Given the description of an element on the screen output the (x, y) to click on. 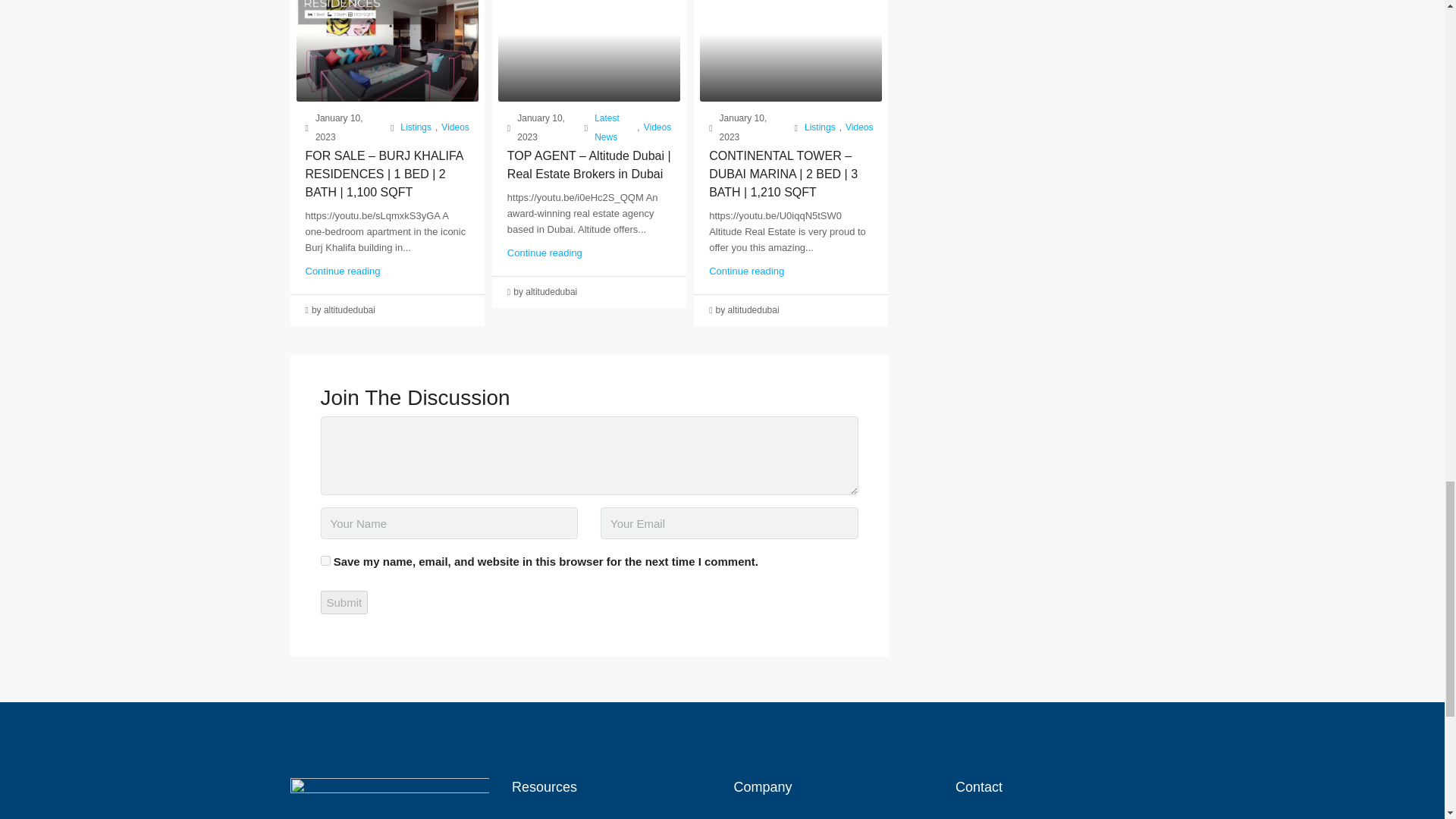
yes (325, 560)
Submit (344, 602)
